Given the description of an element on the screen output the (x, y) to click on. 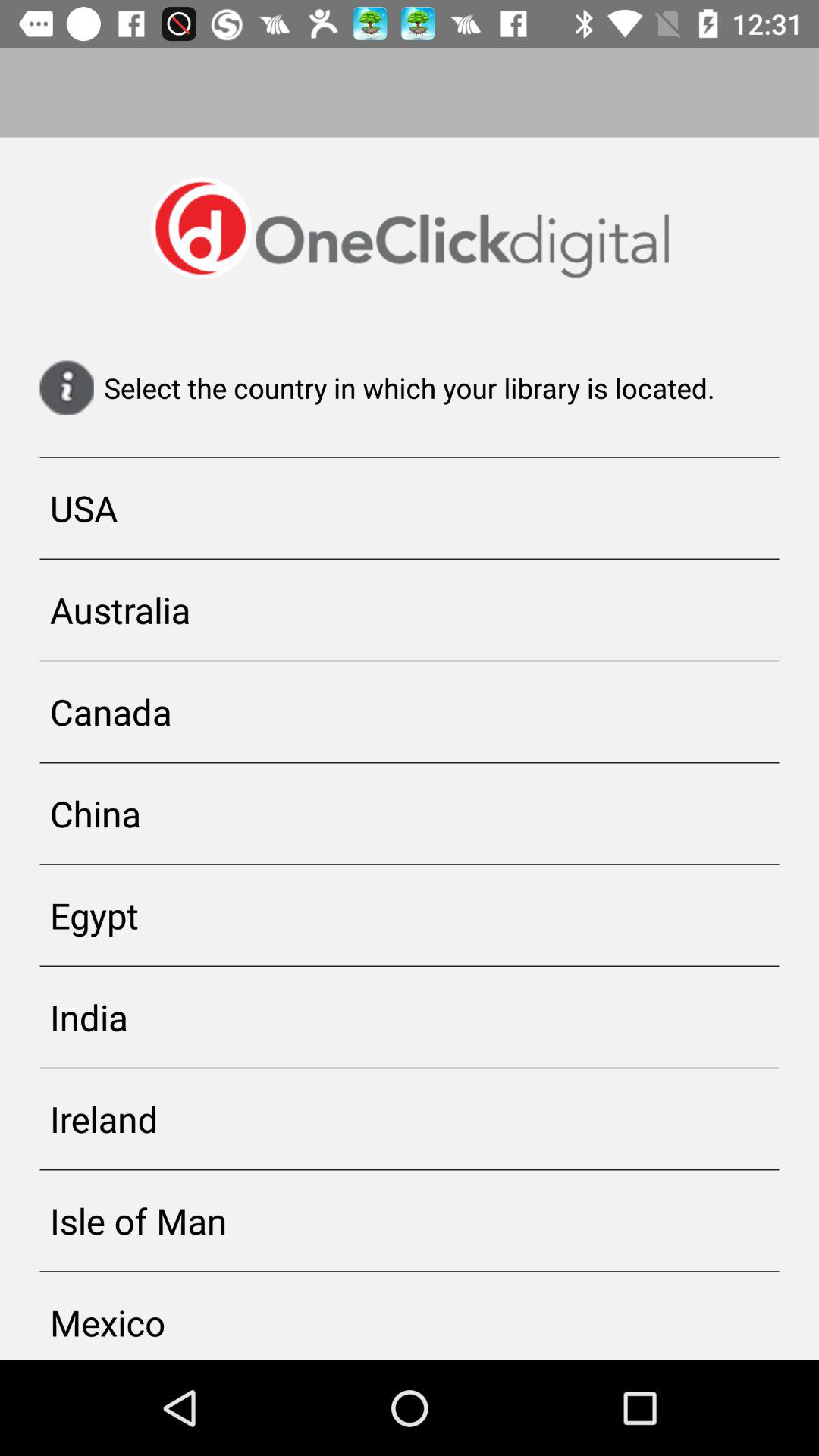
turn on the app below the isle of man item (409, 1316)
